Given the description of an element on the screen output the (x, y) to click on. 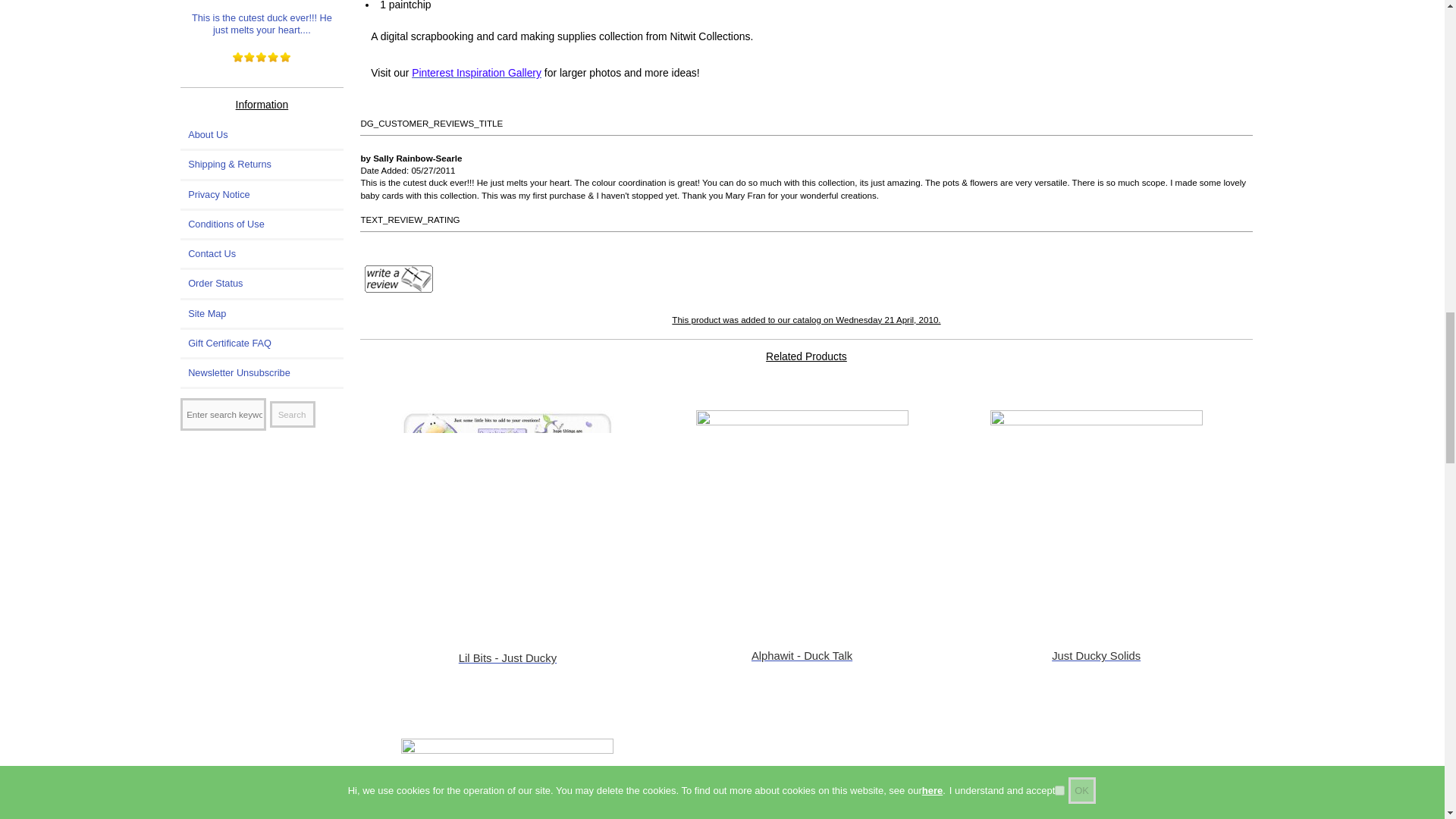
Lil Bits - Just Ducky (506, 516)
Just Ducky Too (506, 778)
5 of 5 Stars! (261, 57)
Search (292, 414)
Privacy Notice (261, 194)
Just Ducky Solids (1096, 516)
This is the cutest duck ever!!! He just melts your heart.... (261, 19)
About Us (261, 134)
Alphawit - Duck Talk (801, 516)
Contact Us (261, 253)
Write Review (398, 278)
Conditions of Use (261, 224)
